Given the description of an element on the screen output the (x, y) to click on. 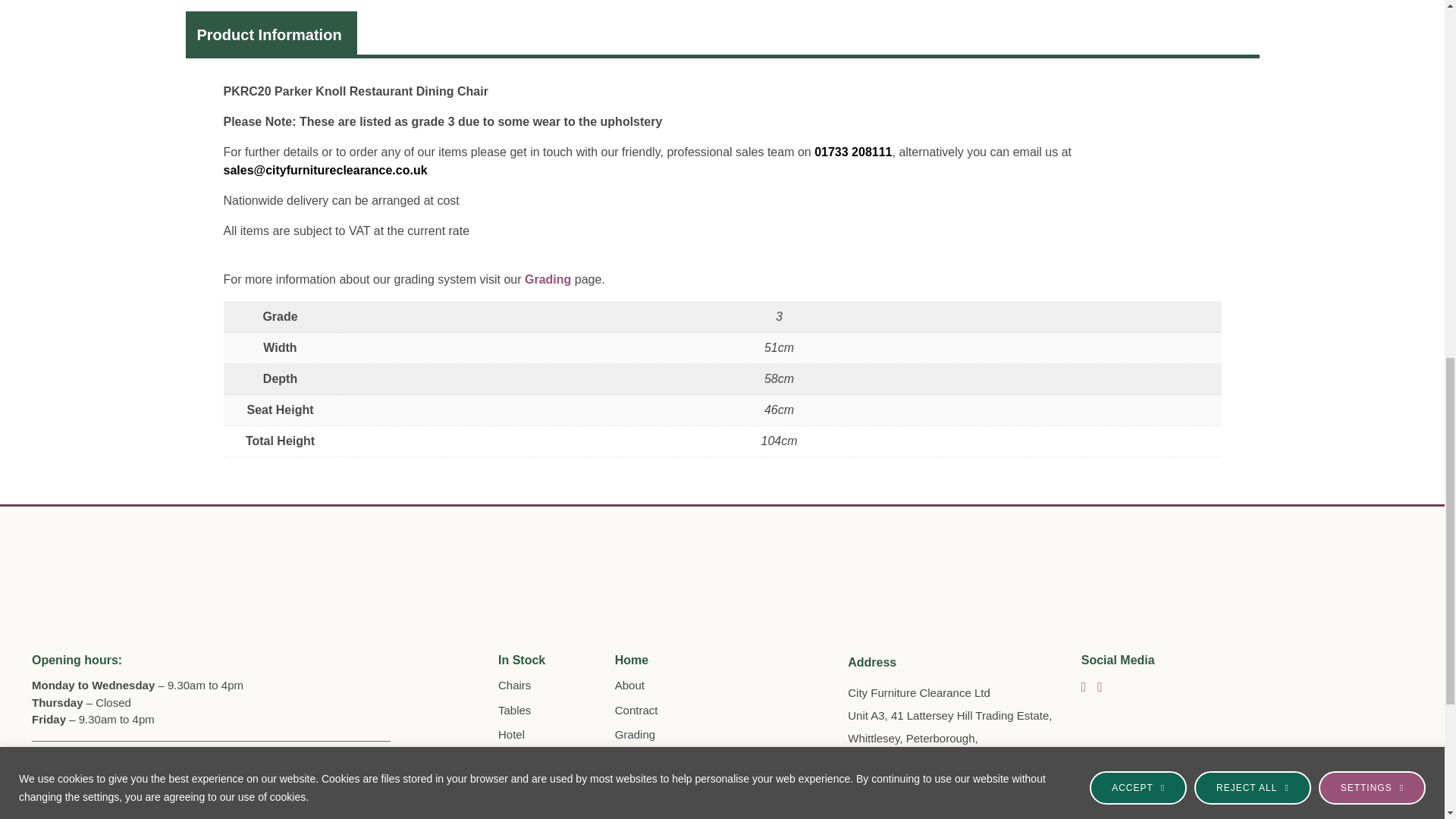
email (324, 169)
email (852, 151)
